Given the description of an element on the screen output the (x, y) to click on. 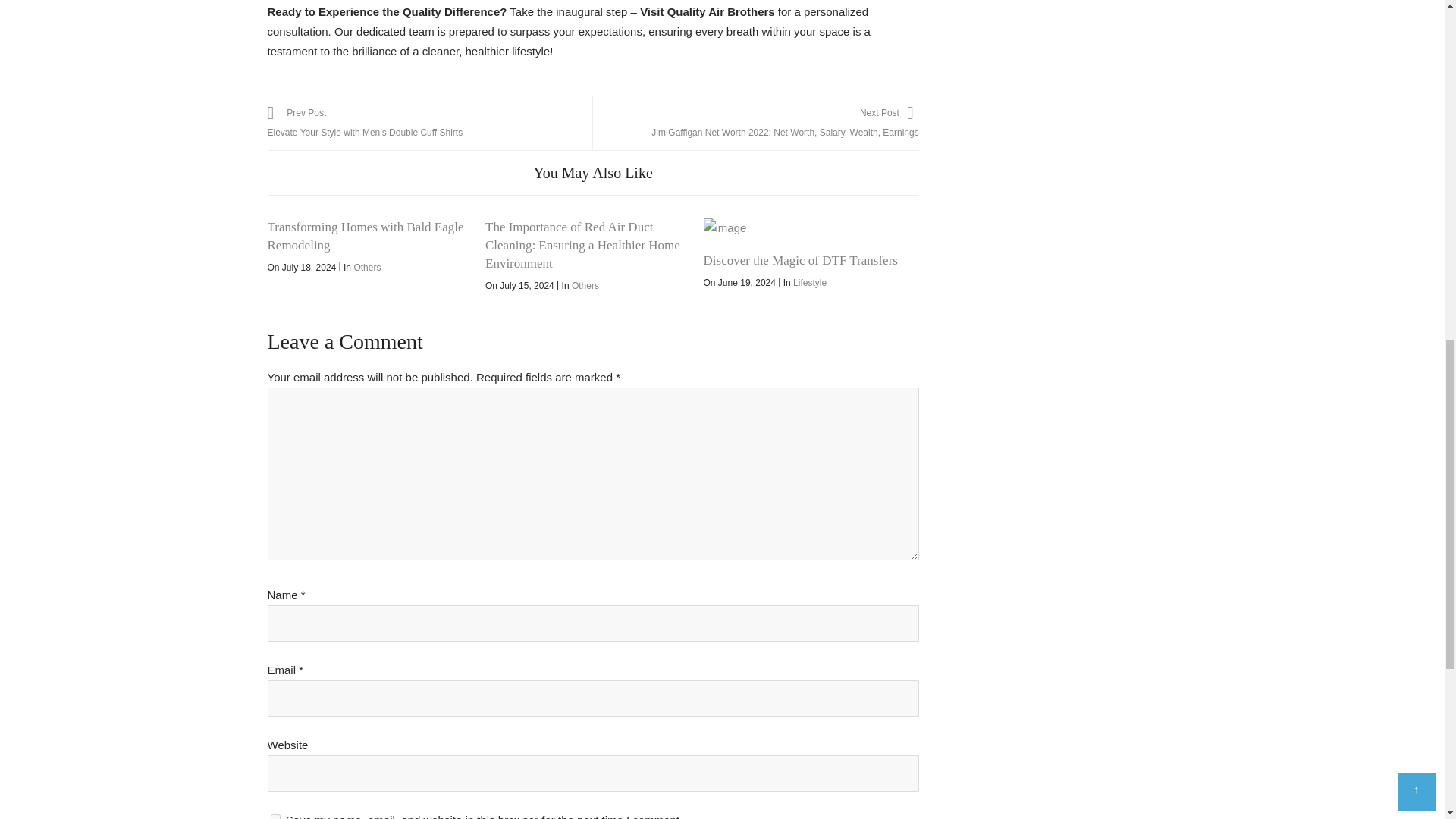
Transforming Homes with Bald Eagle Remodeling (364, 236)
Others (366, 267)
Others (585, 285)
Discover the Magic of DTF Transfers (800, 260)
Discover the Magic of DTF Transfers (804, 228)
Lifestyle (810, 282)
yes (274, 816)
